Given the description of an element on the screen output the (x, y) to click on. 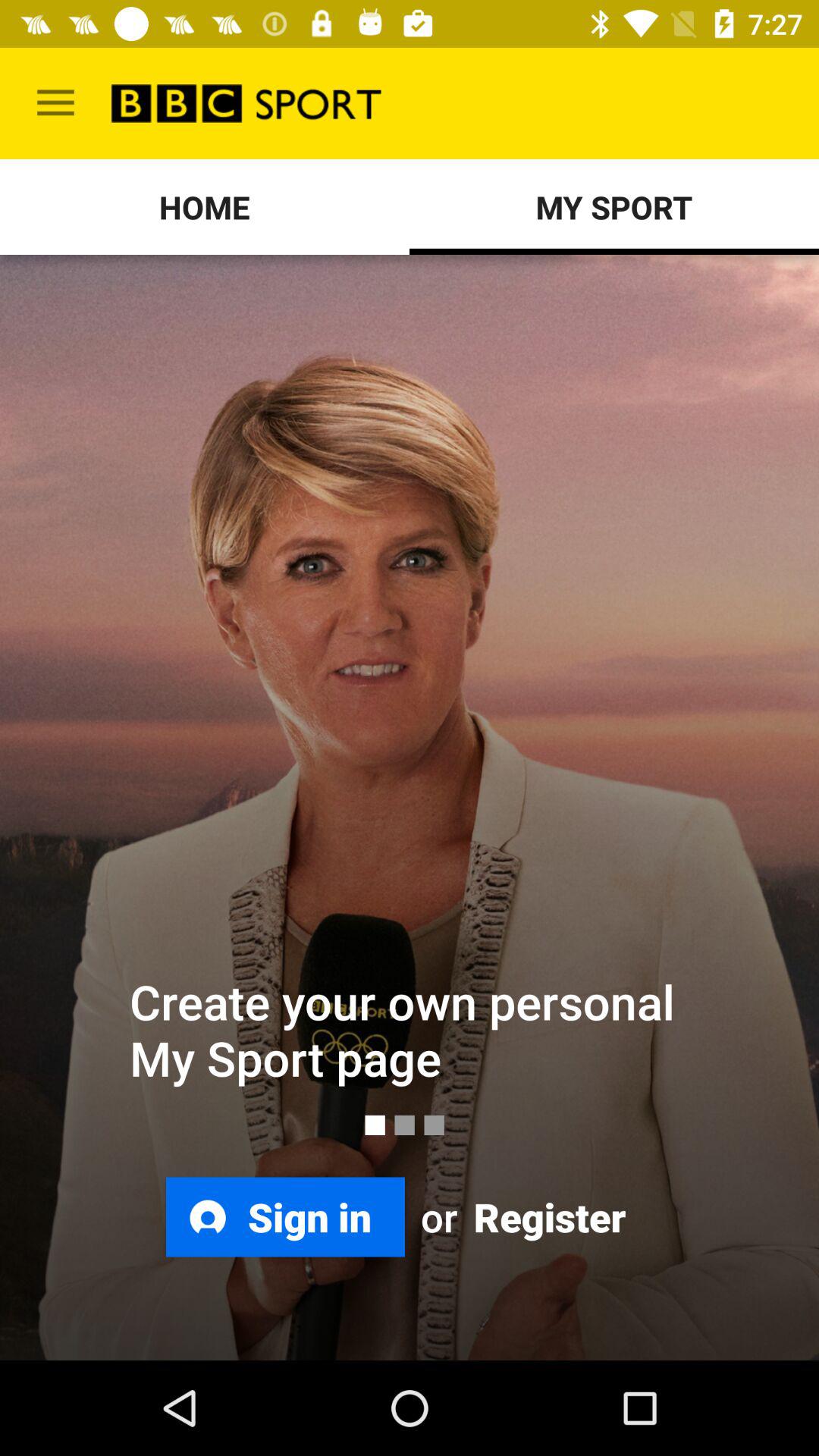
tap the icon below create your own icon (547, 1216)
